Given the description of an element on the screen output the (x, y) to click on. 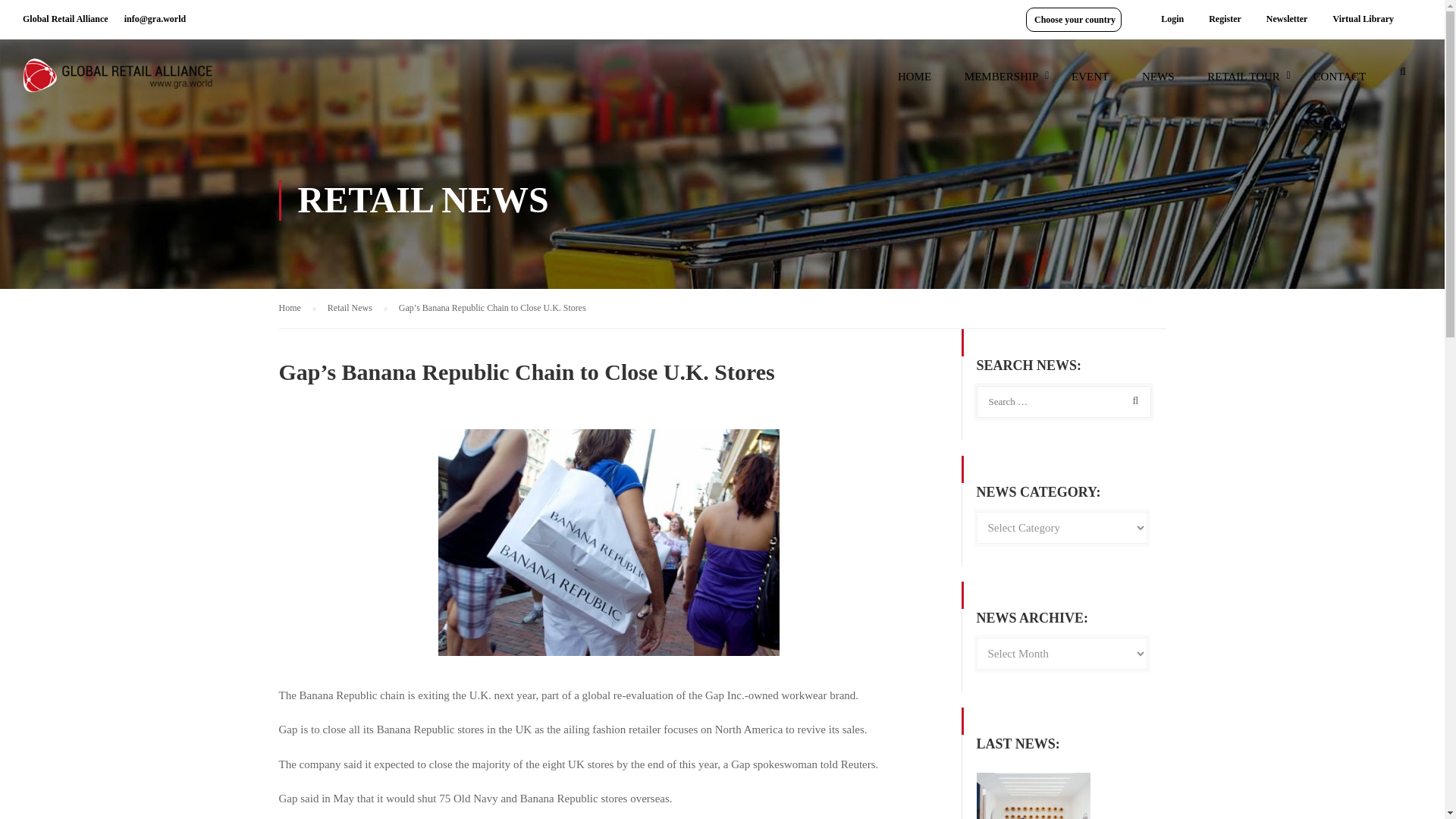
Register (1224, 18)
Home (297, 307)
Search (1132, 400)
RETAIL TOUR (1243, 83)
Login (1172, 18)
Search (1403, 76)
Retail News (357, 307)
Search (1403, 76)
Search (1132, 400)
Virtual Library (1362, 18)
GRA - Global Retail Alliance (117, 82)
NEWS (1157, 83)
HOME (914, 83)
MEMBERSHIP (1001, 83)
Newsletter (1287, 18)
